Given the description of an element on the screen output the (x, y) to click on. 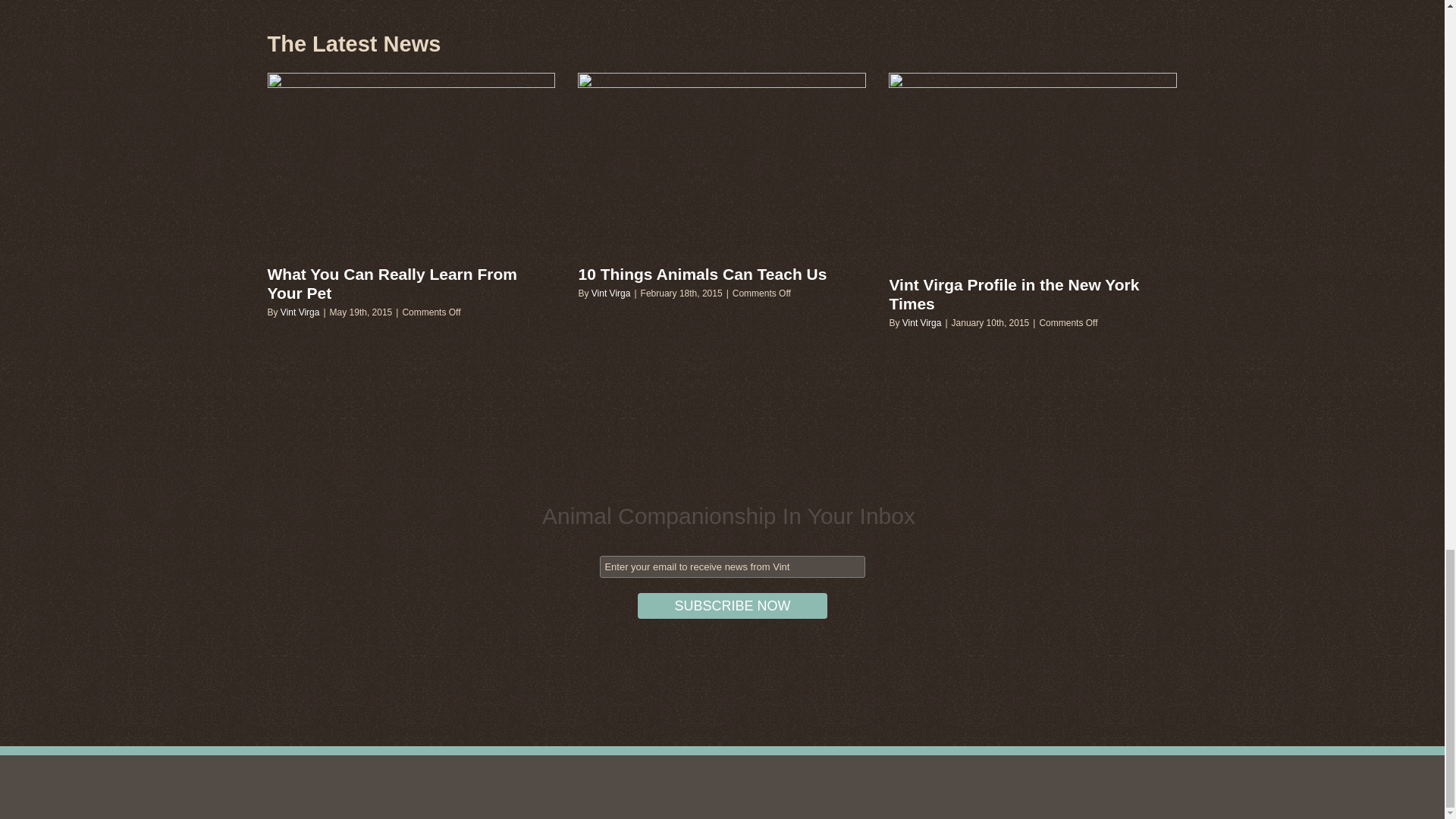
Vint Virga (610, 293)
Posts by Vint Virga (610, 293)
Vint Virga Profile in the New York Times (1013, 294)
Vint Virga (922, 322)
10 Things Animals Can Teach Us (702, 273)
Subscribe Now (732, 605)
Posts by Vint Virga (300, 312)
What You Can Really Learn From Your Pet (391, 283)
Posts by Vint Virga (922, 322)
